Given the description of an element on the screen output the (x, y) to click on. 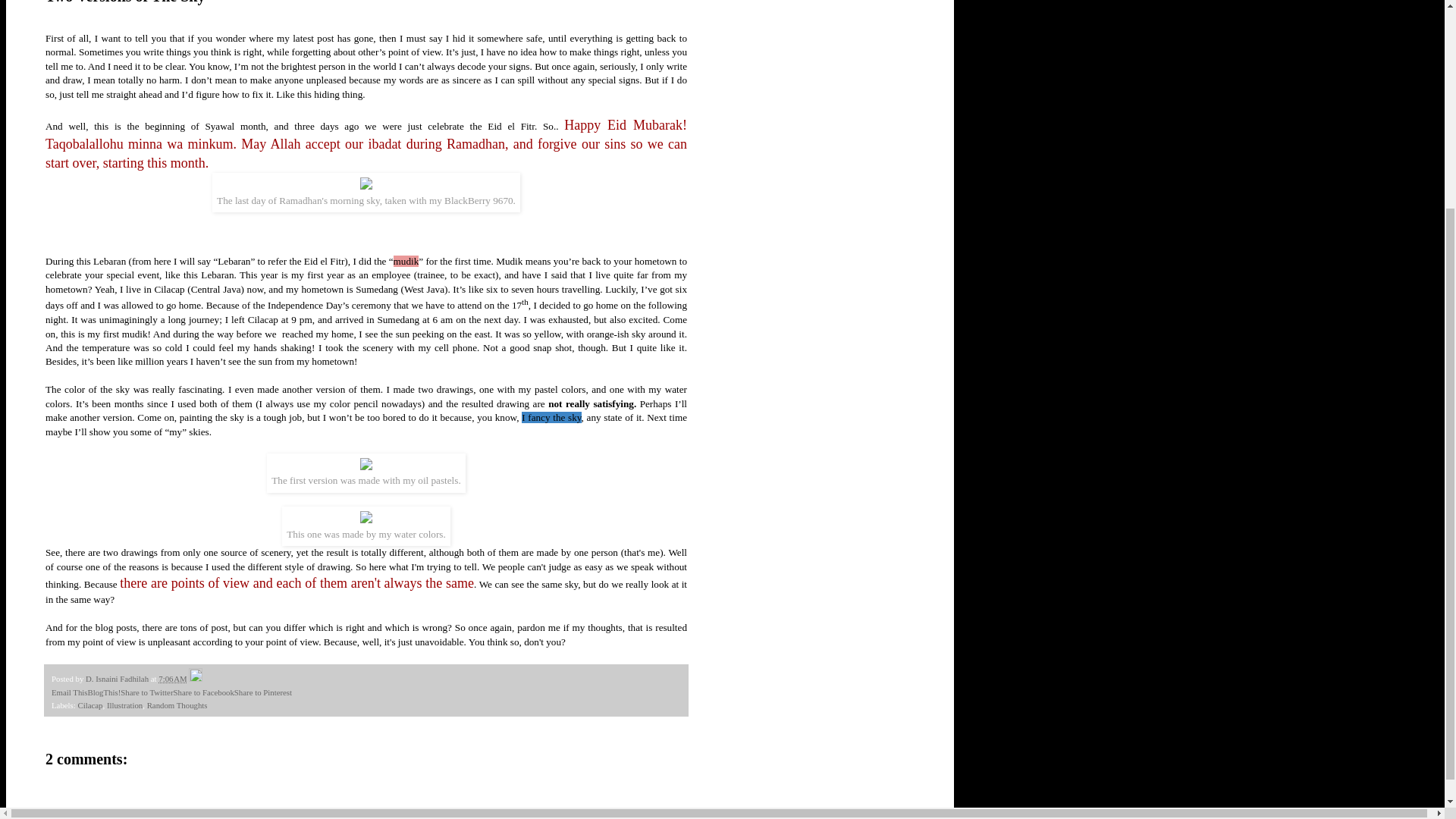
BlogThis! (103, 691)
Share to Facebook (202, 691)
Share to Pinterest (263, 691)
D. Isnaini Fadhilah (118, 678)
BlogThis! (103, 691)
Email This (68, 691)
Cilacap (89, 705)
Share to Pinterest (263, 691)
Share to Facebook (202, 691)
